Given the description of an element on the screen output the (x, y) to click on. 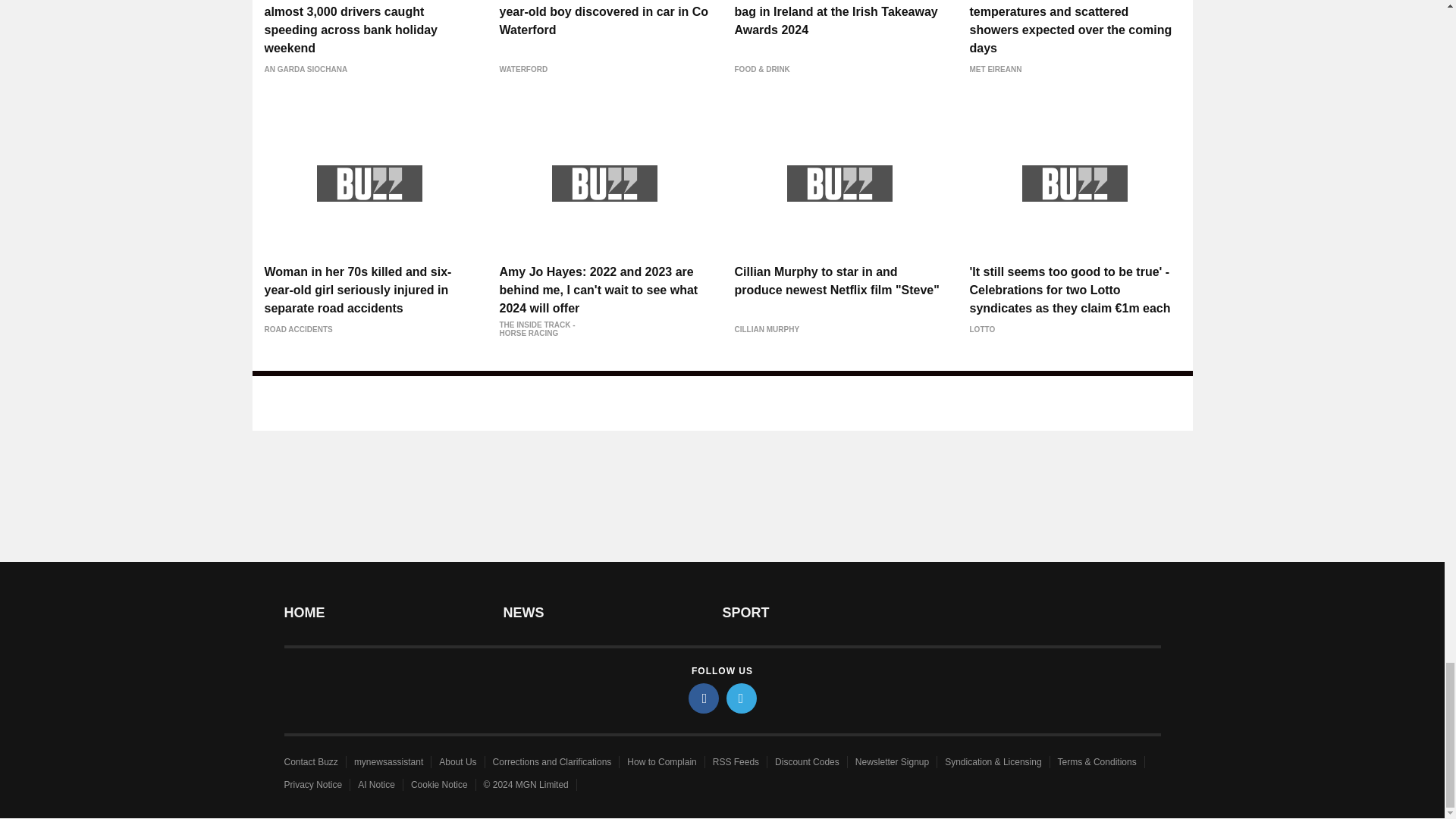
twitter (741, 698)
facebook (703, 698)
